Given the description of an element on the screen output the (x, y) to click on. 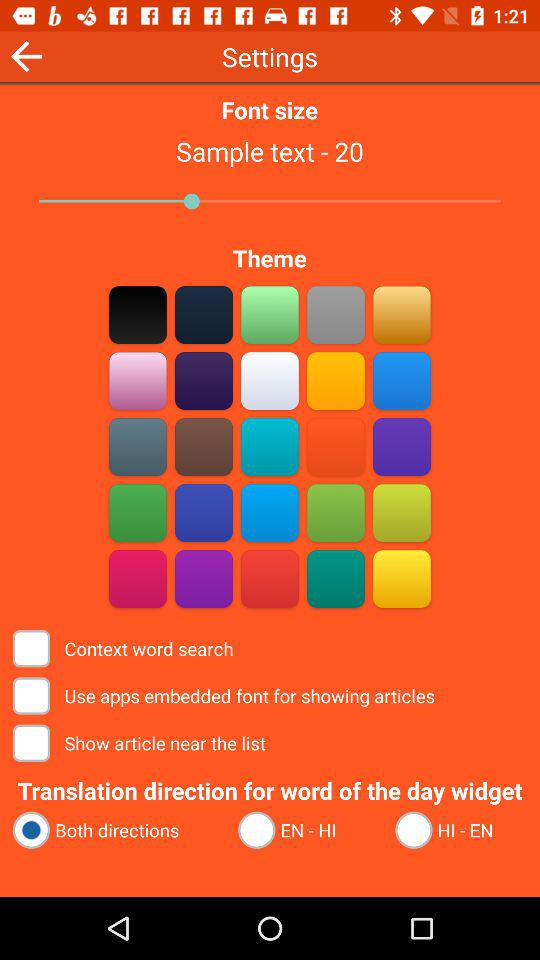
swipe until show article near (141, 742)
